Given the description of an element on the screen output the (x, y) to click on. 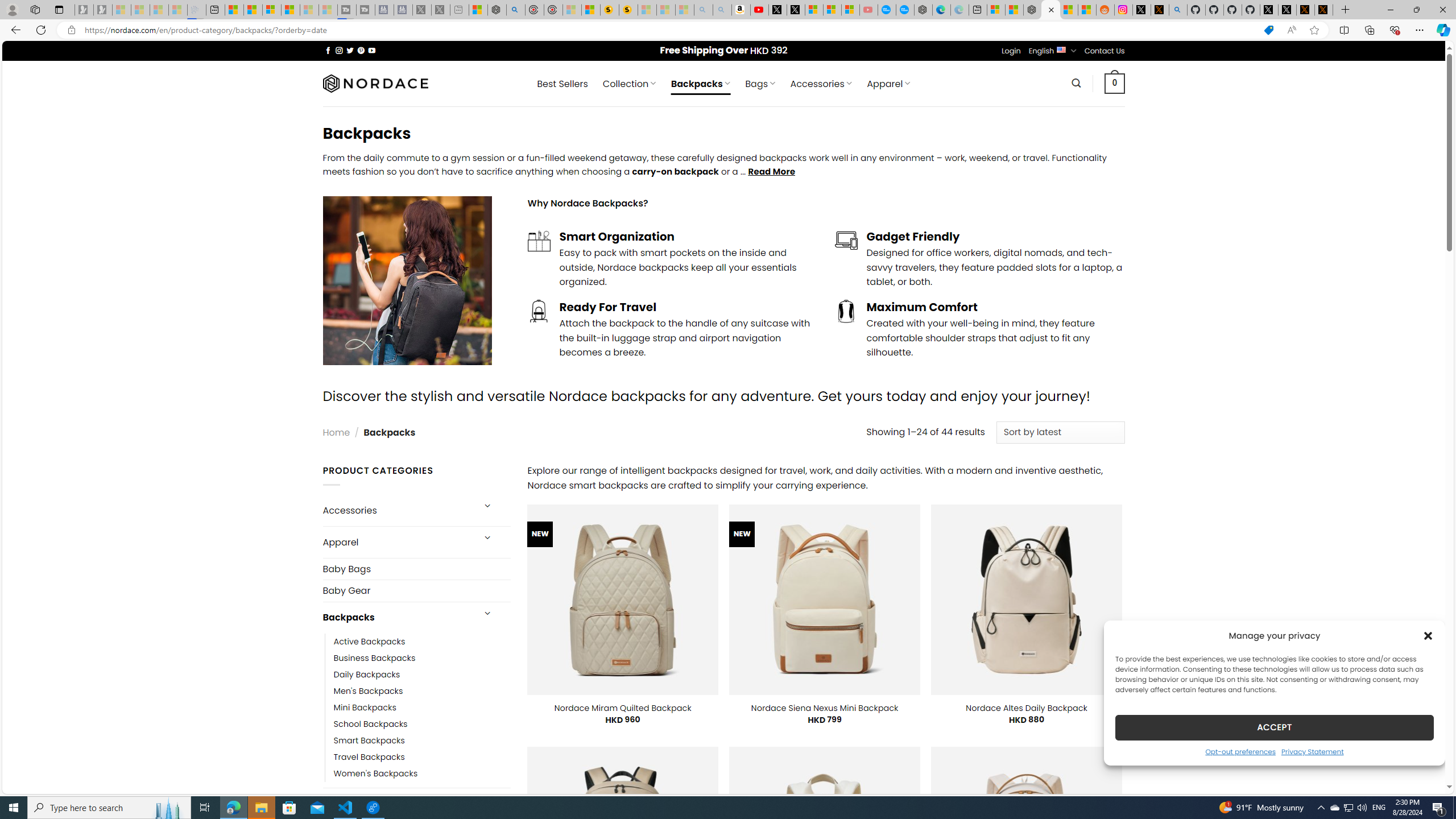
Mini Backpacks (422, 706)
Log in to X / X (1142, 9)
Read More (771, 171)
